Given the description of an element on the screen output the (x, y) to click on. 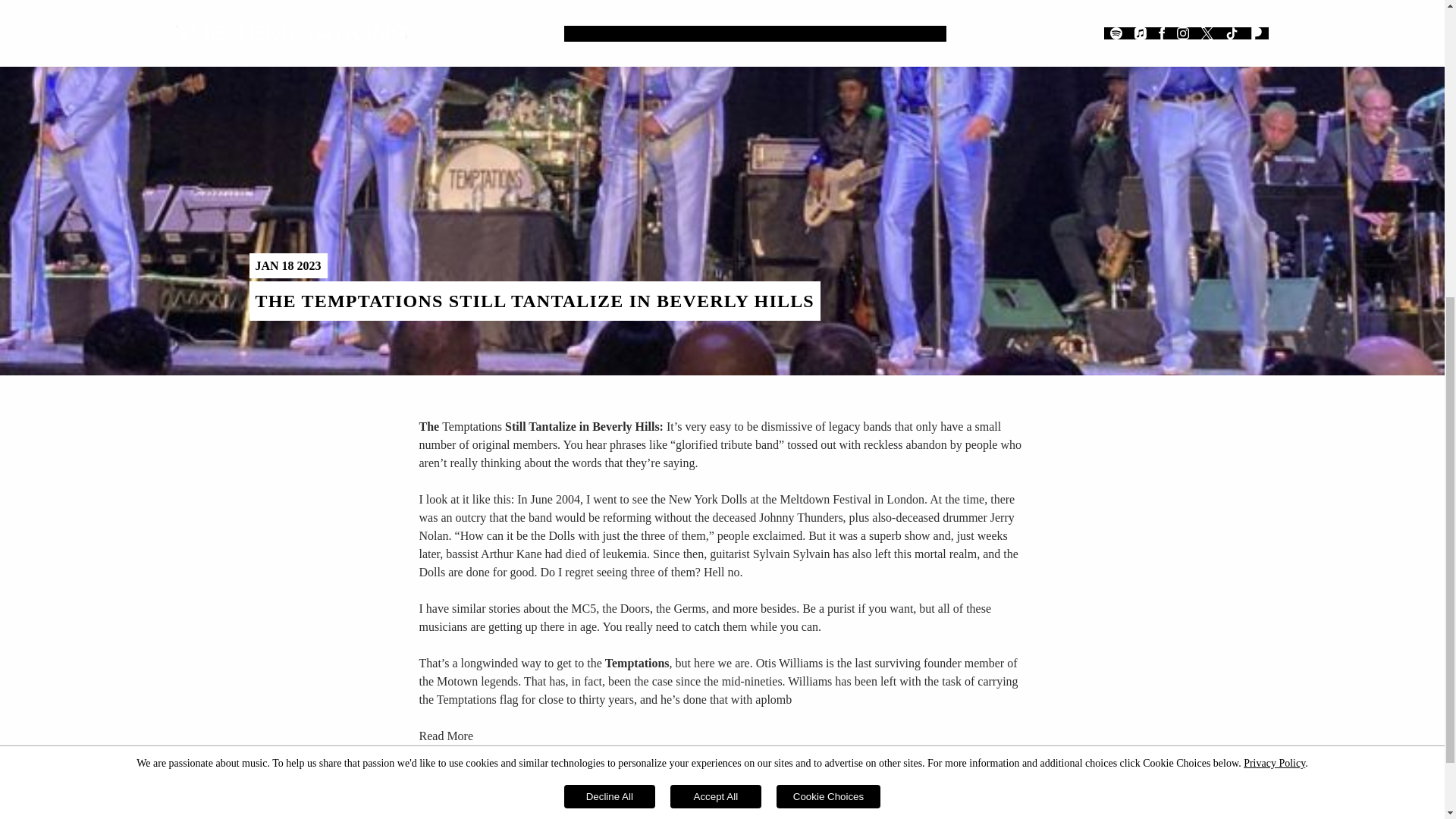
Read More (446, 735)
Temptations (637, 662)
Temptations (472, 426)
